Given the description of an element on the screen output the (x, y) to click on. 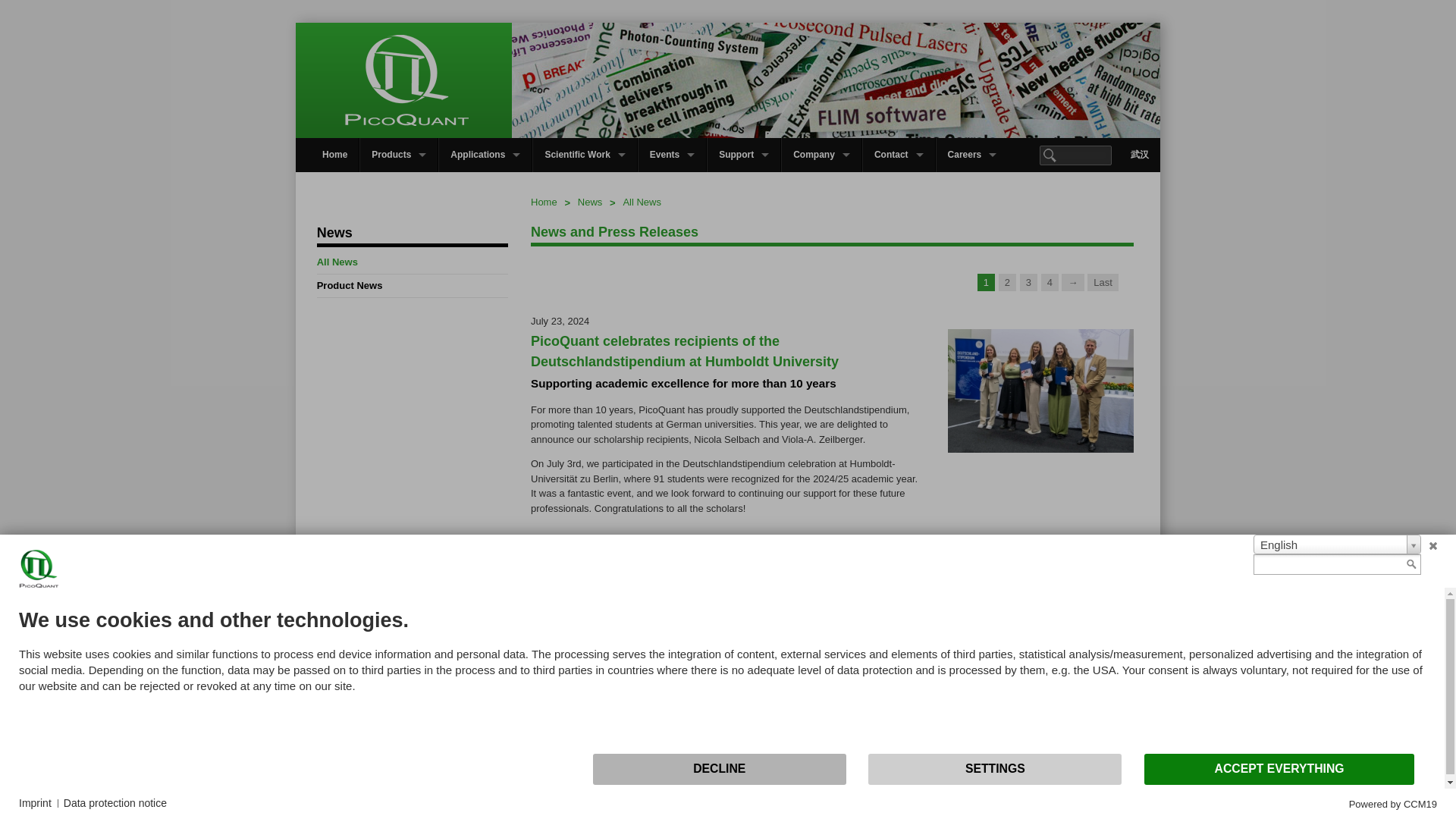
Events (672, 154)
Products (398, 154)
Scientific Work (584, 154)
Close (1433, 545)
Home (334, 154)
Applications (485, 154)
Support (743, 154)
FluoTime 300 Spectrometer: Enhanced Safety and Precision (1040, 620)
